Given the description of an element on the screen output the (x, y) to click on. 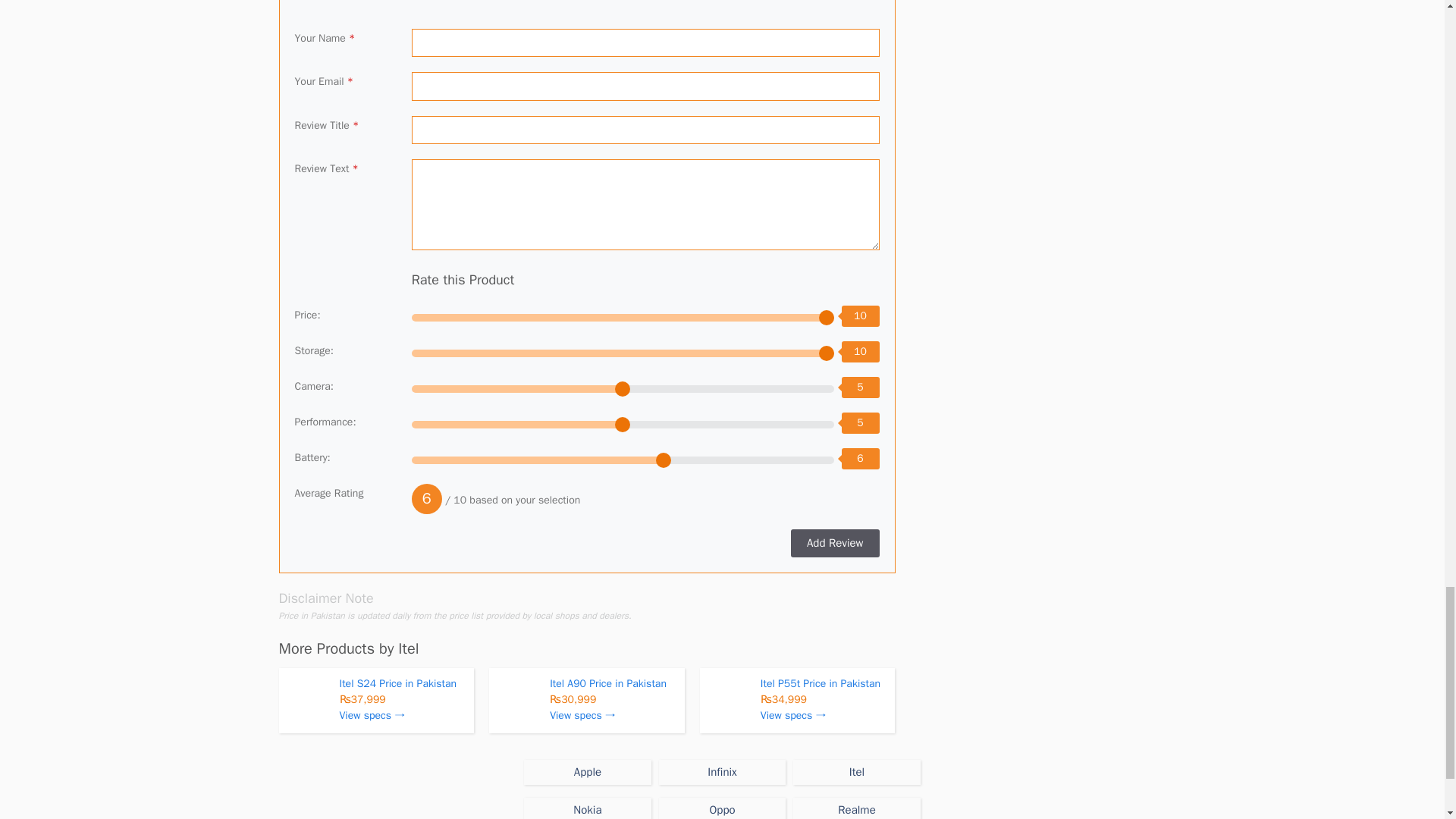
10 (623, 353)
Itel S24 Price in Pakistan (398, 683)
Itel A90 Price in Pakistan (608, 683)
Add Review (834, 543)
10 (623, 317)
5 (623, 424)
Add Review (834, 543)
Itel (408, 648)
6 (623, 460)
5 (623, 388)
Itel P55t Price in Pakistan (820, 683)
